Given the description of an element on the screen output the (x, y) to click on. 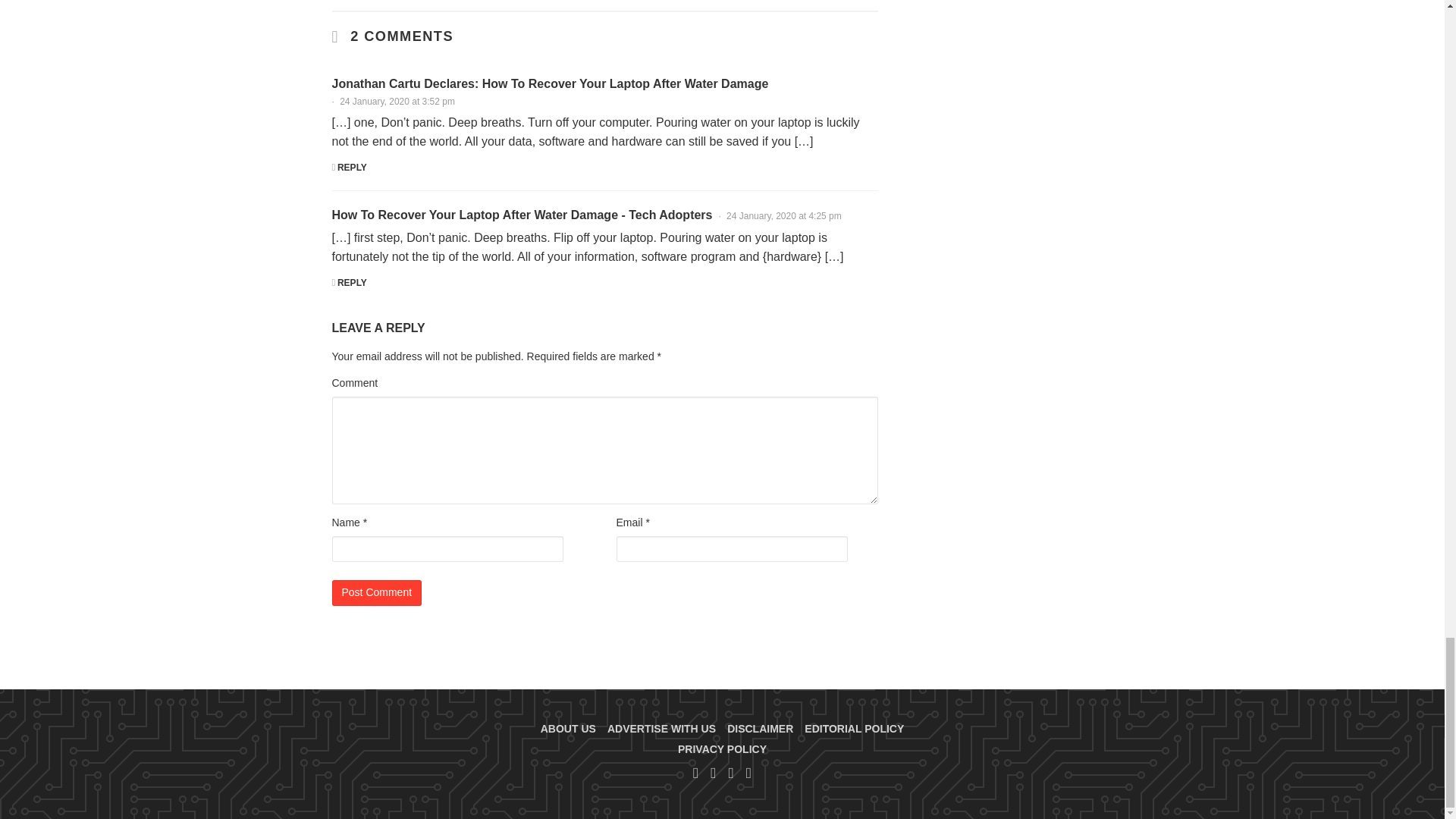
Post Comment (376, 592)
